Given the description of an element on the screen output the (x, y) to click on. 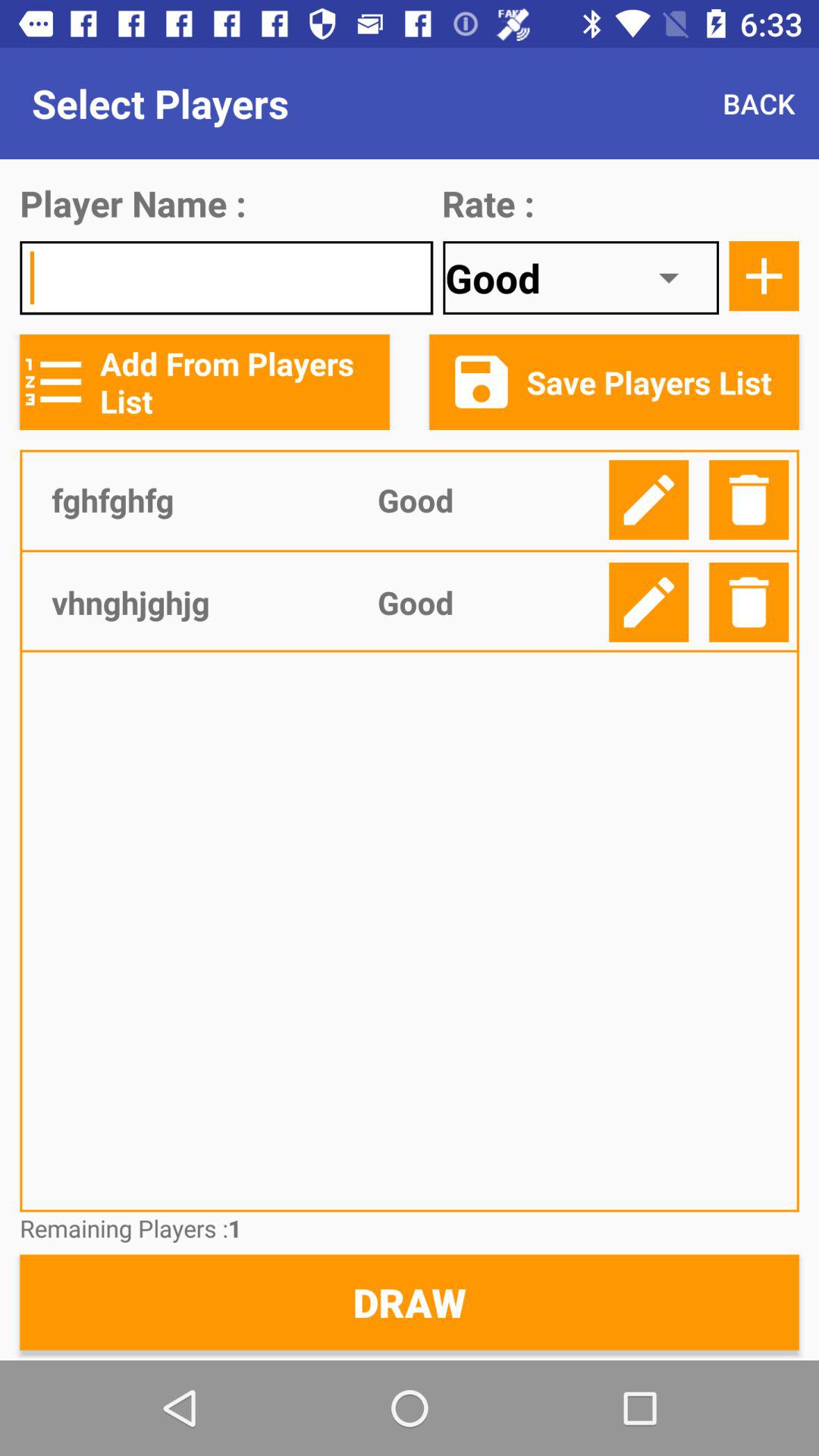
edit a comment (648, 499)
